Given the description of an element on the screen output the (x, y) to click on. 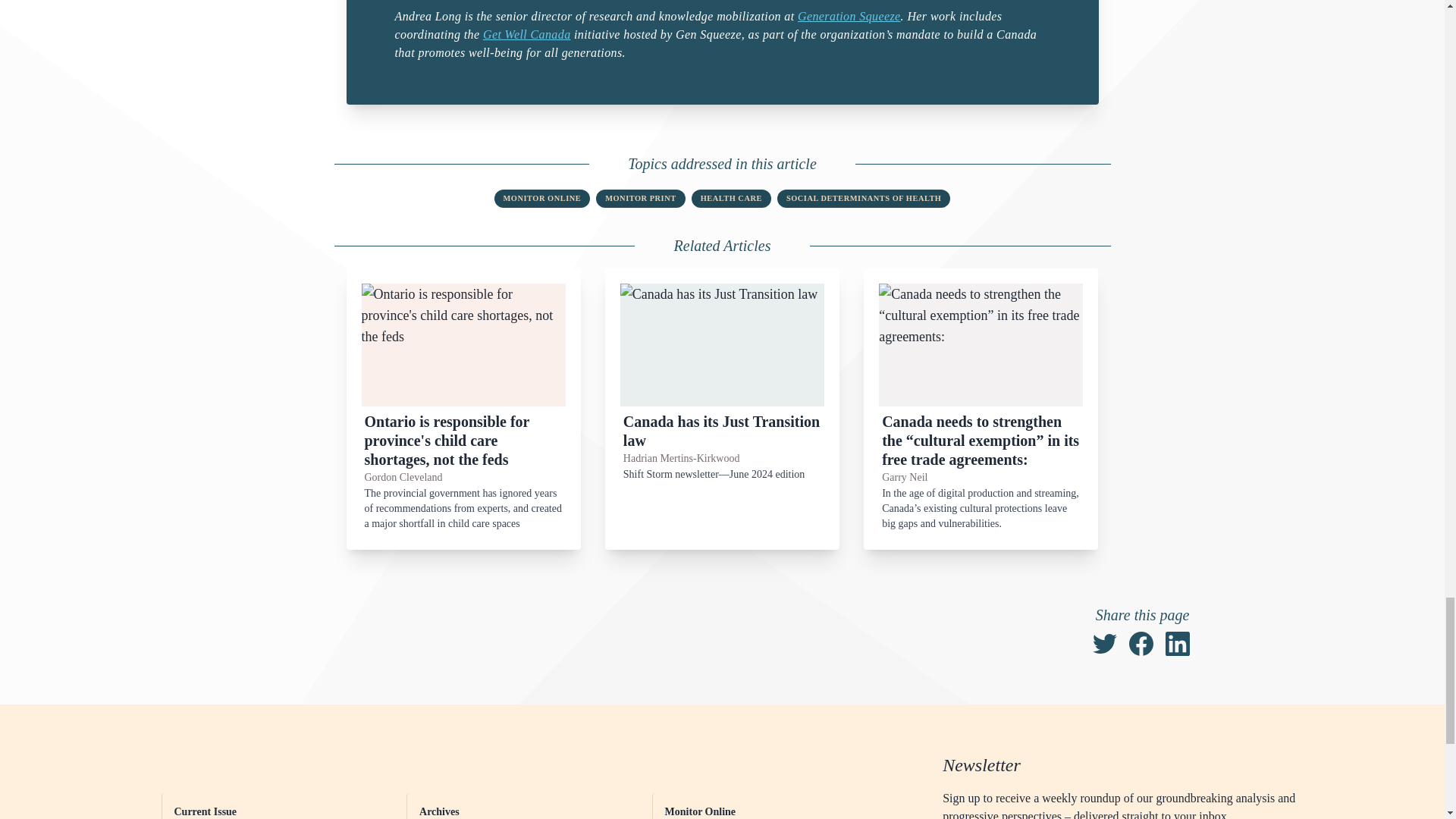
Tweet (1104, 643)
Share on LinkedIn (1176, 643)
Share on Facebook (1140, 643)
